Given the description of an element on the screen output the (x, y) to click on. 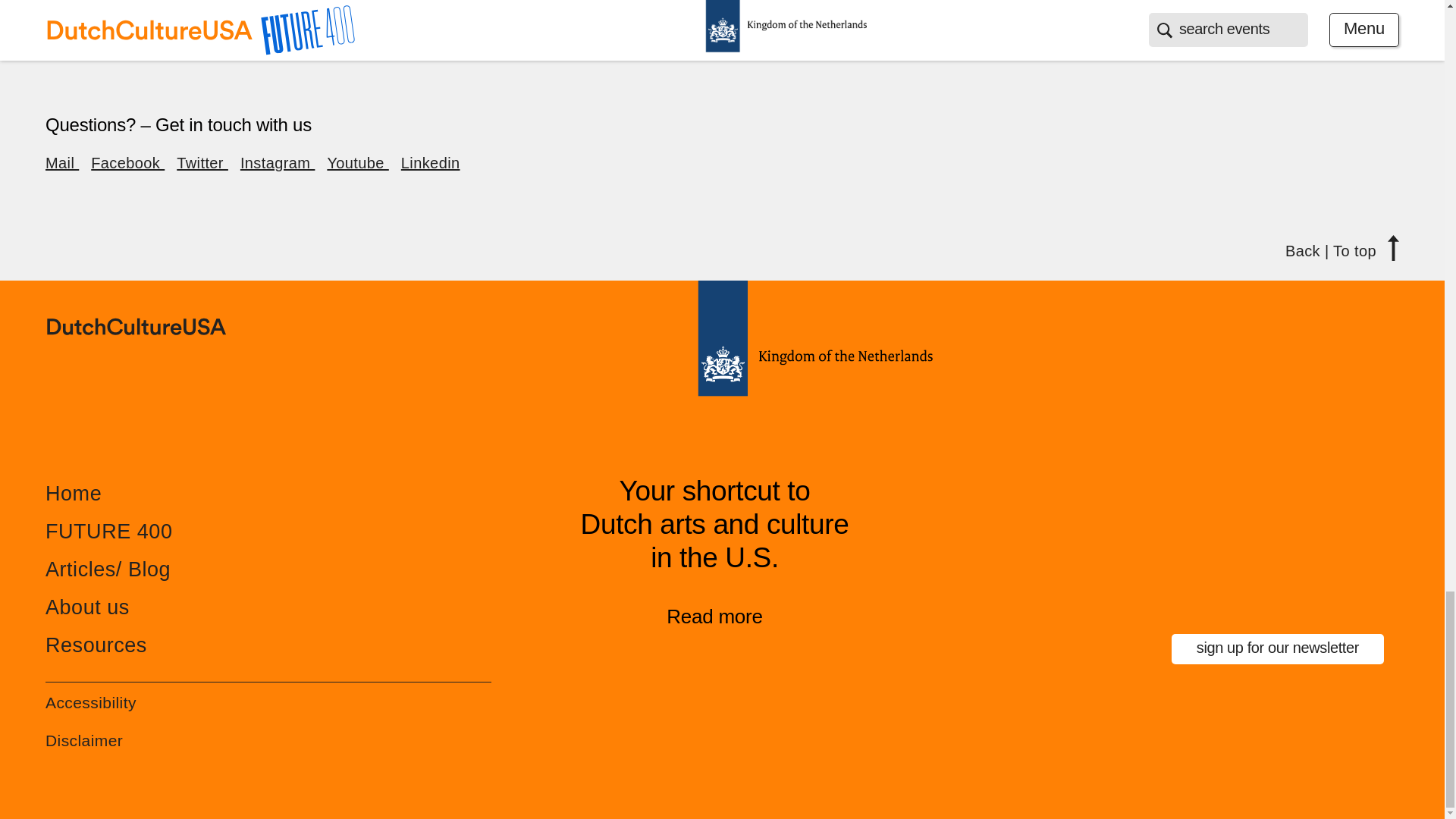
Instagram (277, 162)
Mail (61, 162)
Facebook (127, 162)
Twitter (202, 162)
Youtube (357, 162)
Linkedin (430, 162)
